Given the description of an element on the screen output the (x, y) to click on. 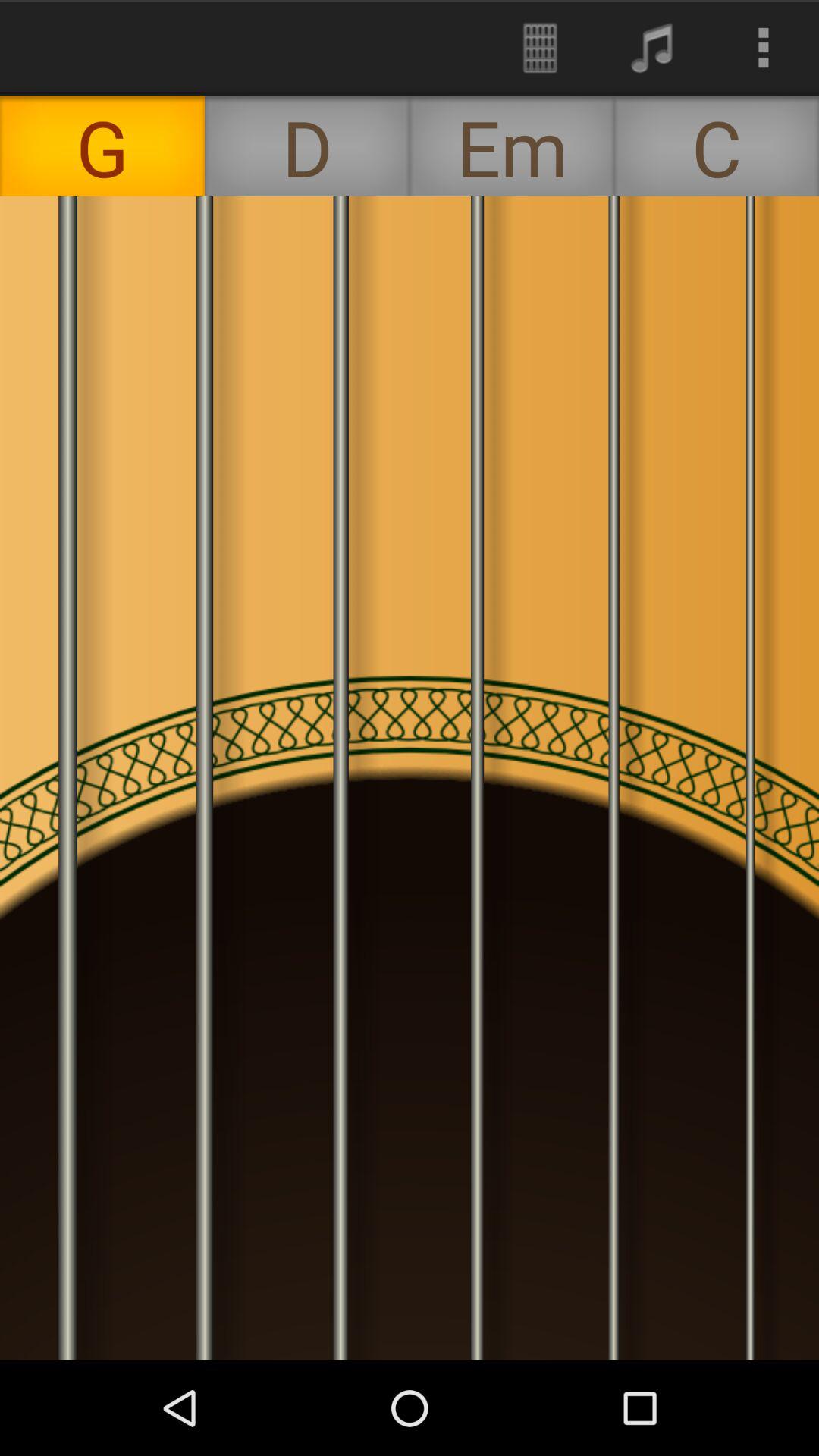
press icon to the left of the d item (102, 145)
